Given the description of an element on the screen output the (x, y) to click on. 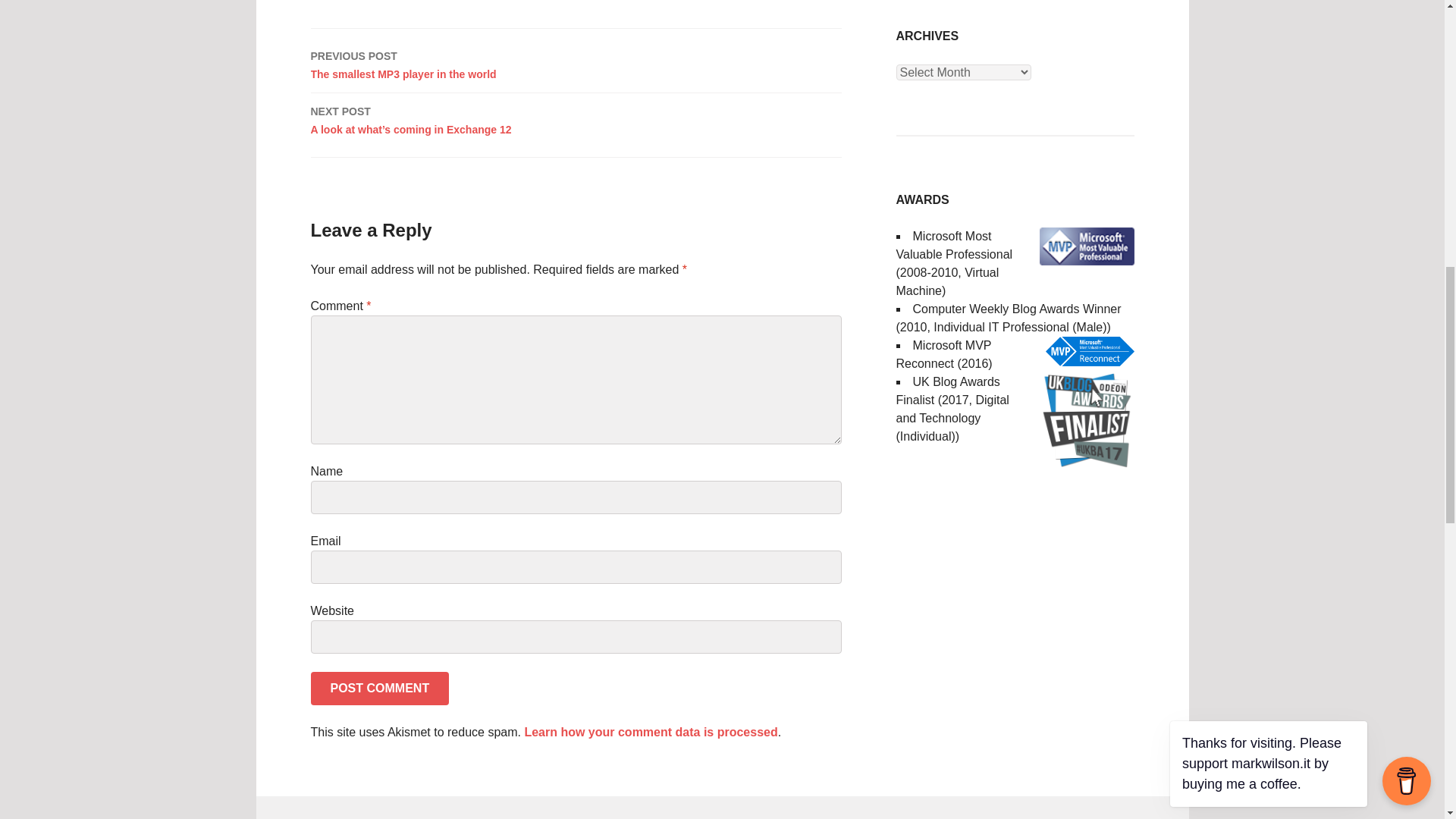
Post Comment (380, 688)
Post Comment (380, 688)
Learn how your comment data is processed (650, 731)
